Given the description of an element on the screen output the (x, y) to click on. 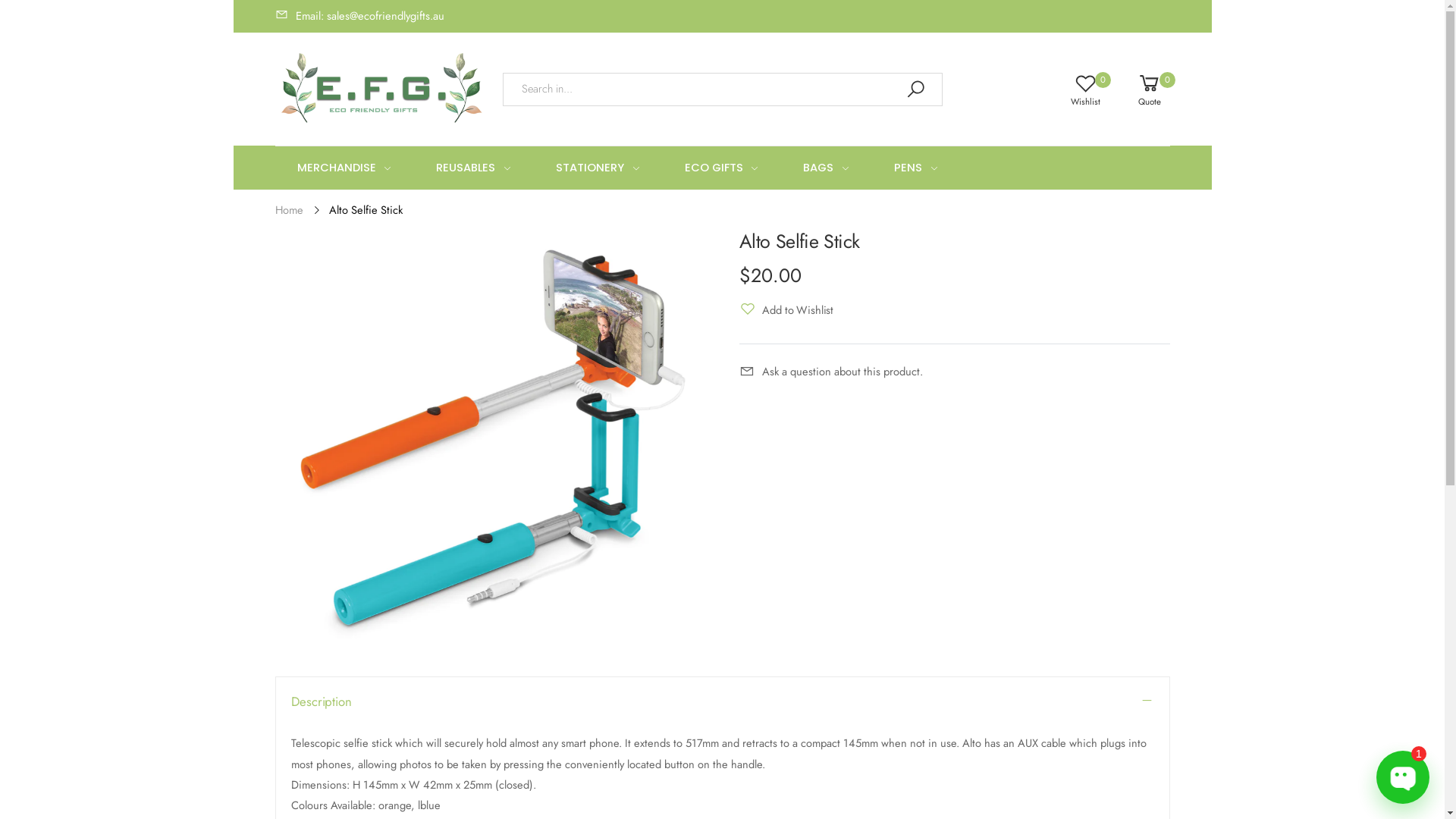
STATIONERY Element type: text (597, 167)
Home Element type: text (288, 209)
BAGS Element type: text (826, 167)
0
Quote Element type: text (1137, 89)
Description Element type: text (722, 701)
PENS Element type: text (916, 167)
Ask a question about this product. Element type: text (830, 371)
MERCHANDISE Element type: text (344, 167)
0
Wishlist Element type: text (1073, 89)
REUSABLES Element type: text (473, 167)
Email: sales@ecofriendlygifts.au Element type: text (358, 16)
ECO GIFTS Element type: text (721, 167)
